Given the description of an element on the screen output the (x, y) to click on. 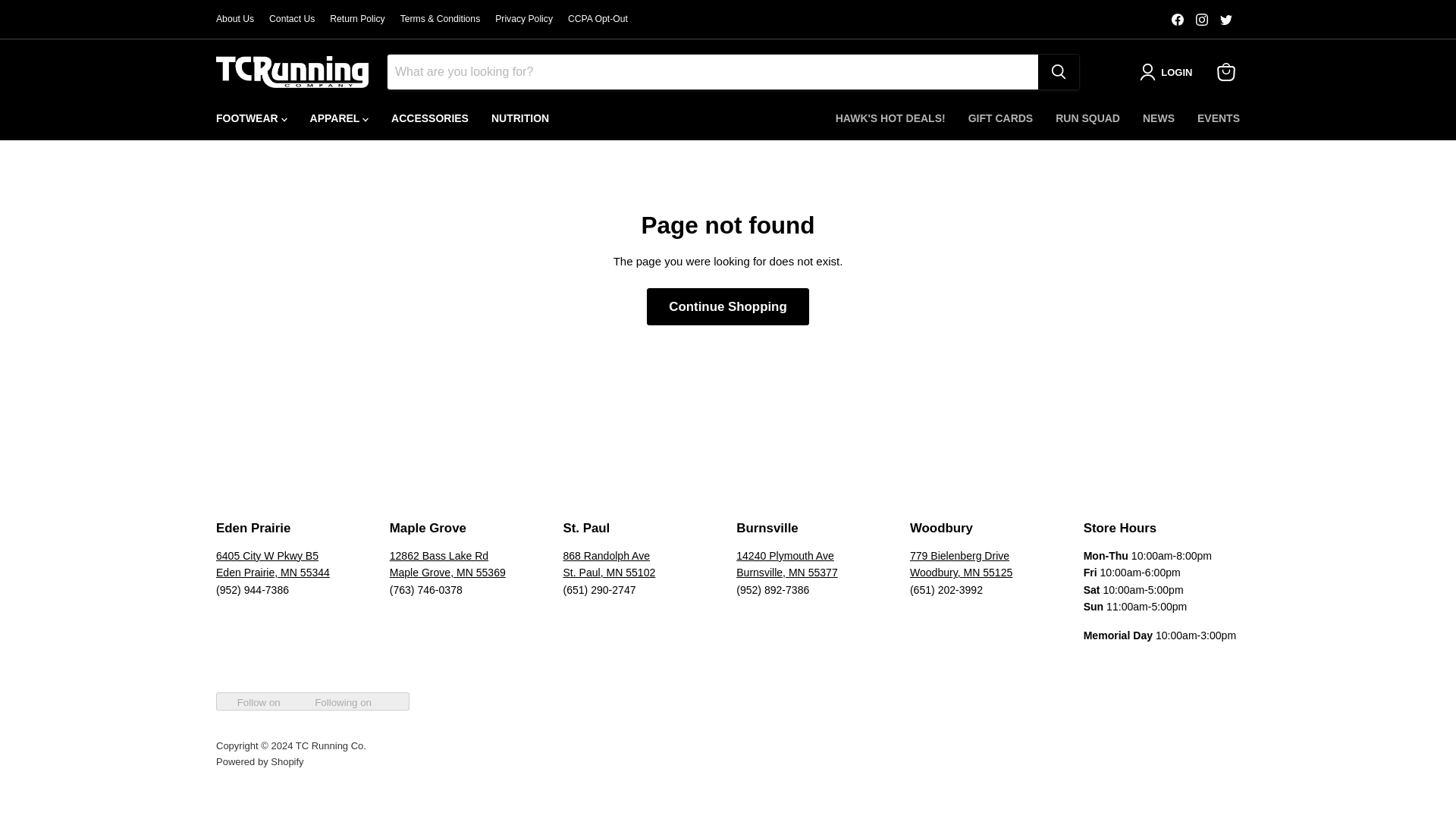
Instagram (1201, 19)
Contact Us (291, 18)
Twitter (1225, 19)
Facebook (1177, 19)
Find us on Twitter (1225, 19)
Return Policy (357, 18)
Find us on Instagram (1201, 19)
Find us on Facebook (1177, 19)
View cart (1226, 71)
About Us (234, 18)
LOGIN (1169, 72)
CCPA Opt-Out (597, 18)
Privacy Policy (524, 18)
